Given the description of an element on the screen output the (x, y) to click on. 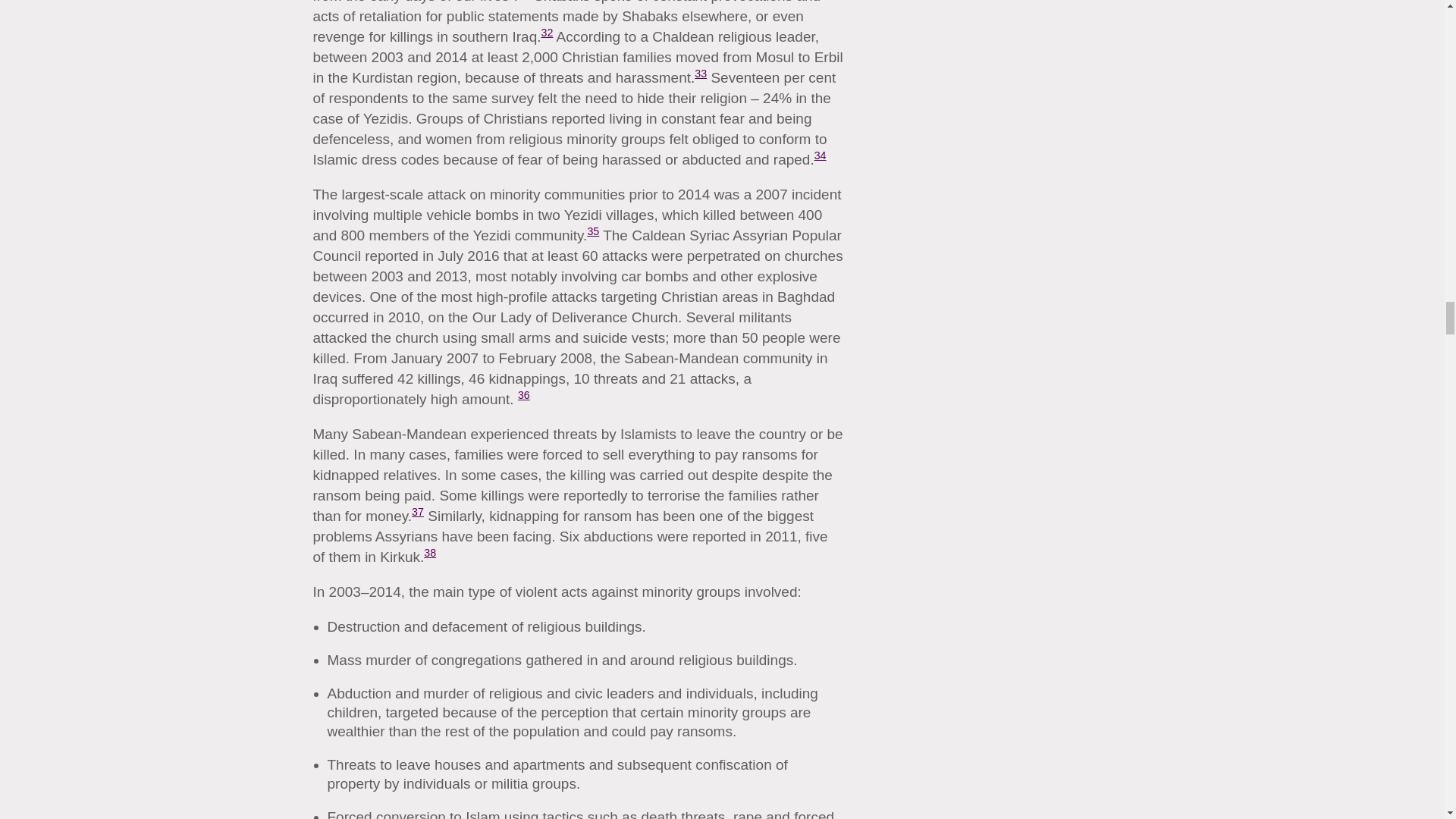
35 (592, 231)
38 (429, 552)
33 (700, 73)
37 (417, 511)
36 (523, 395)
32 (547, 32)
34 (820, 155)
